Given the description of an element on the screen output the (x, y) to click on. 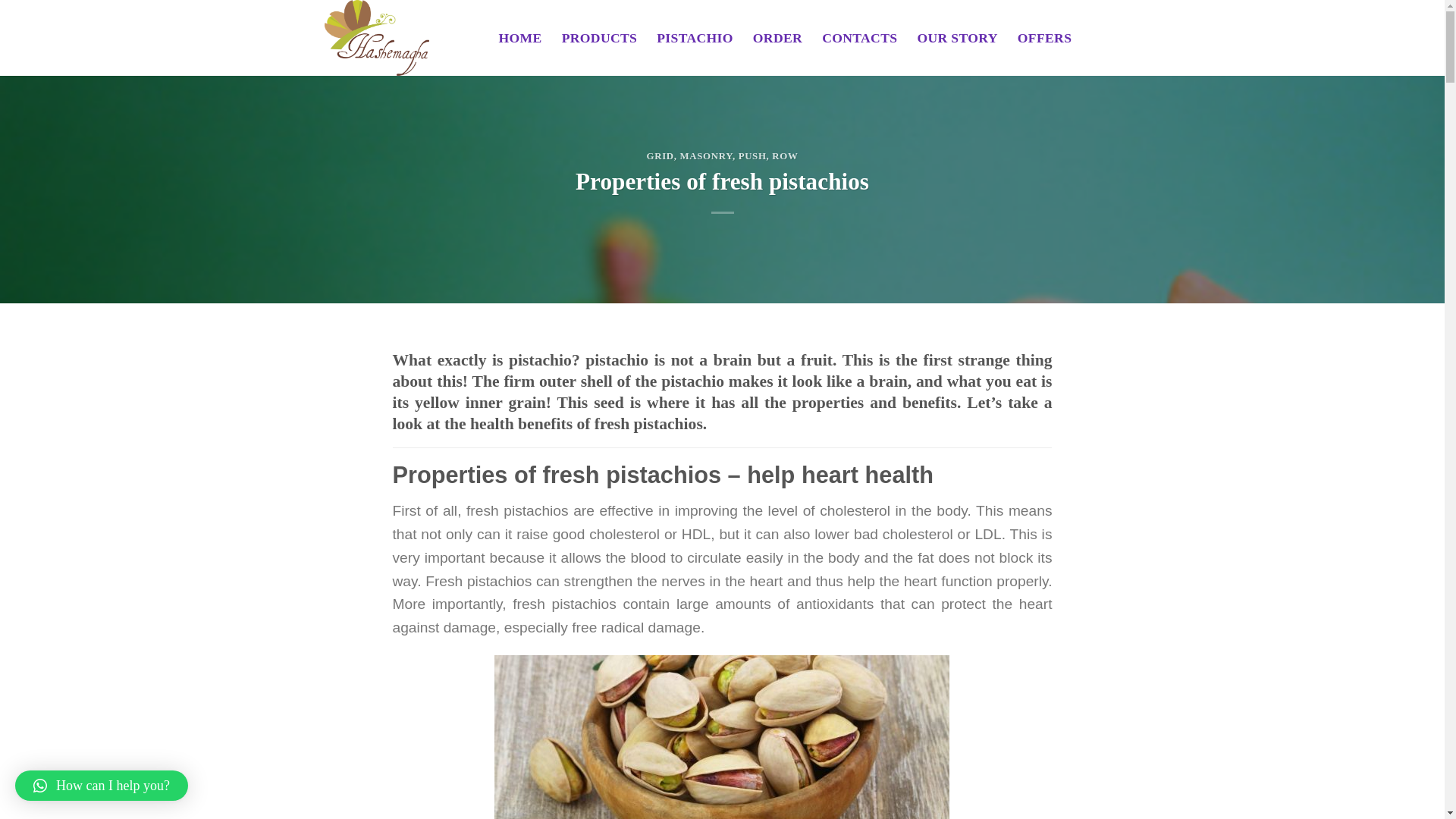
ROW (784, 155)
OUR STORY (957, 37)
OFFERS (1044, 37)
ORDER (777, 37)
PISTACHIO (694, 37)
GRID (660, 155)
PRODUCTS (599, 37)
HOME (520, 37)
MASONRY (705, 155)
CONTACTS (859, 37)
